Given the description of an element on the screen output the (x, y) to click on. 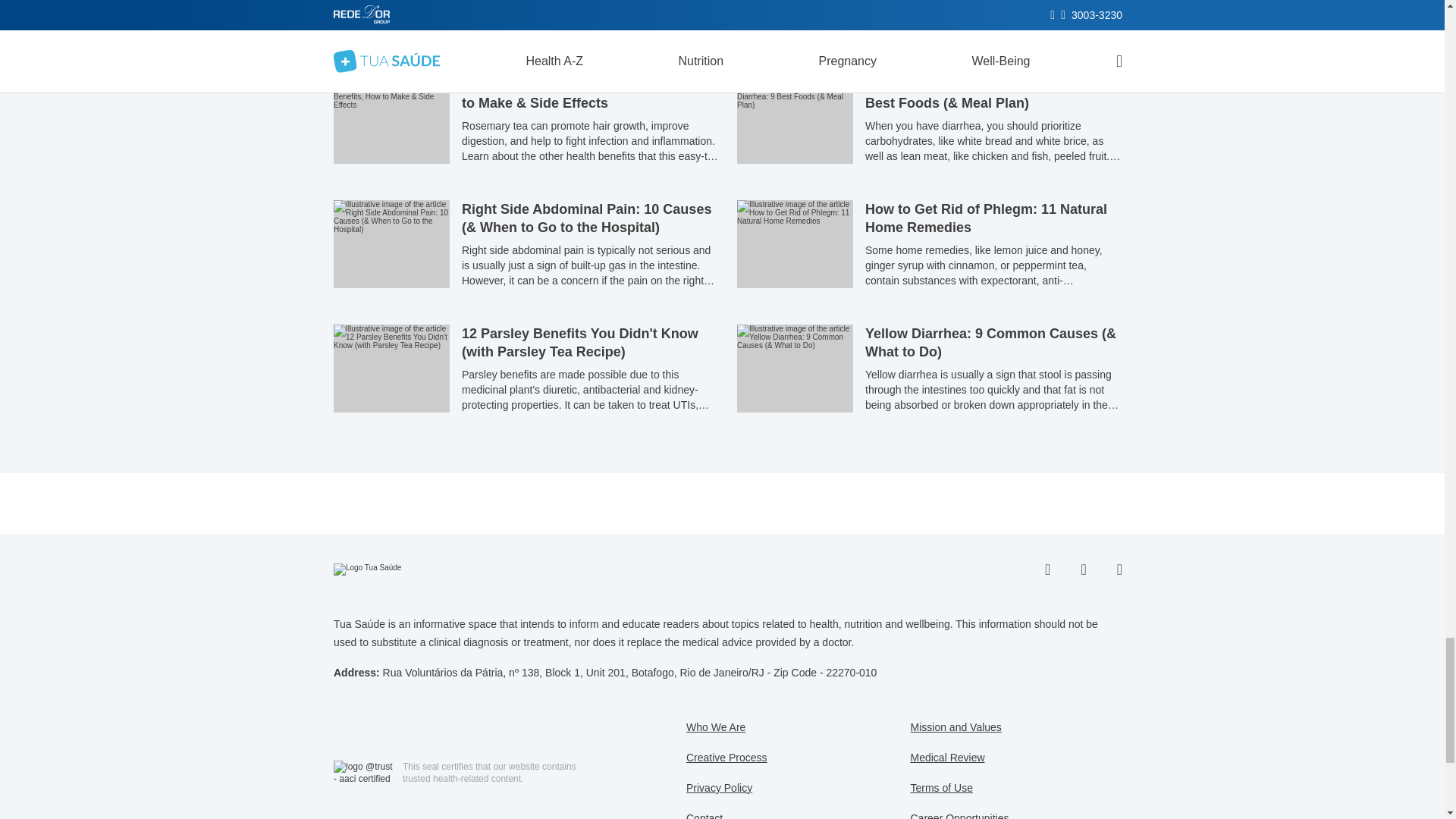
Creative Process (726, 757)
Who We Are (715, 727)
Contact (703, 815)
Privacy Policy (718, 787)
Mission and Values (955, 727)
Medical Review (947, 757)
Terms of Use (941, 787)
Career Opportunities (959, 815)
